Given the description of an element on the screen output the (x, y) to click on. 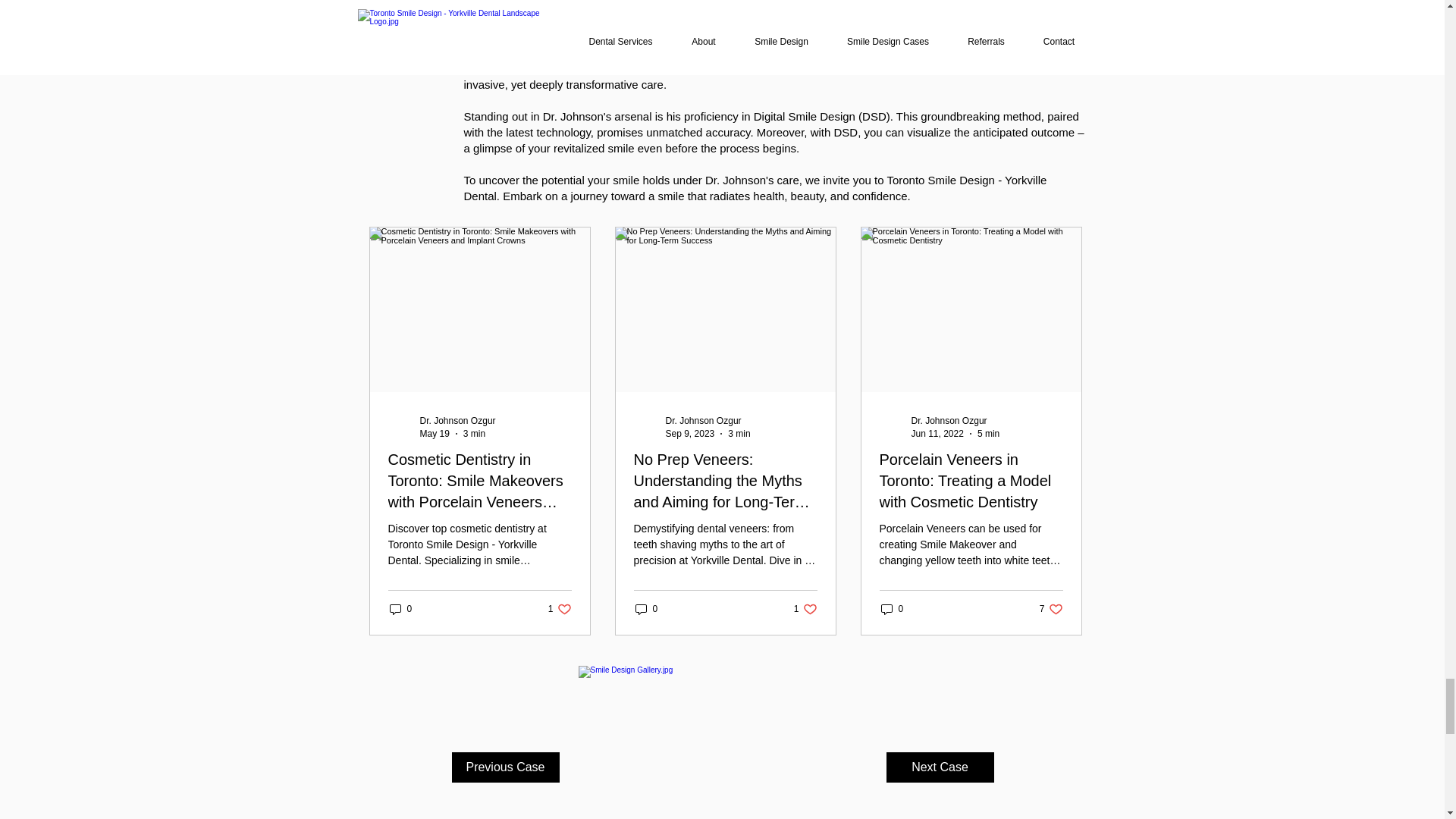
May 19 (434, 433)
Dr. Johnson Ozgur (949, 420)
5 min (987, 433)
Dr. Johnson Ozgur (458, 420)
3 min (738, 433)
Jun 11, 2022 (937, 433)
Dr. Johnson Ozgur (703, 420)
Sep 9, 2023 (689, 433)
3 min (473, 433)
